Given the description of an element on the screen output the (x, y) to click on. 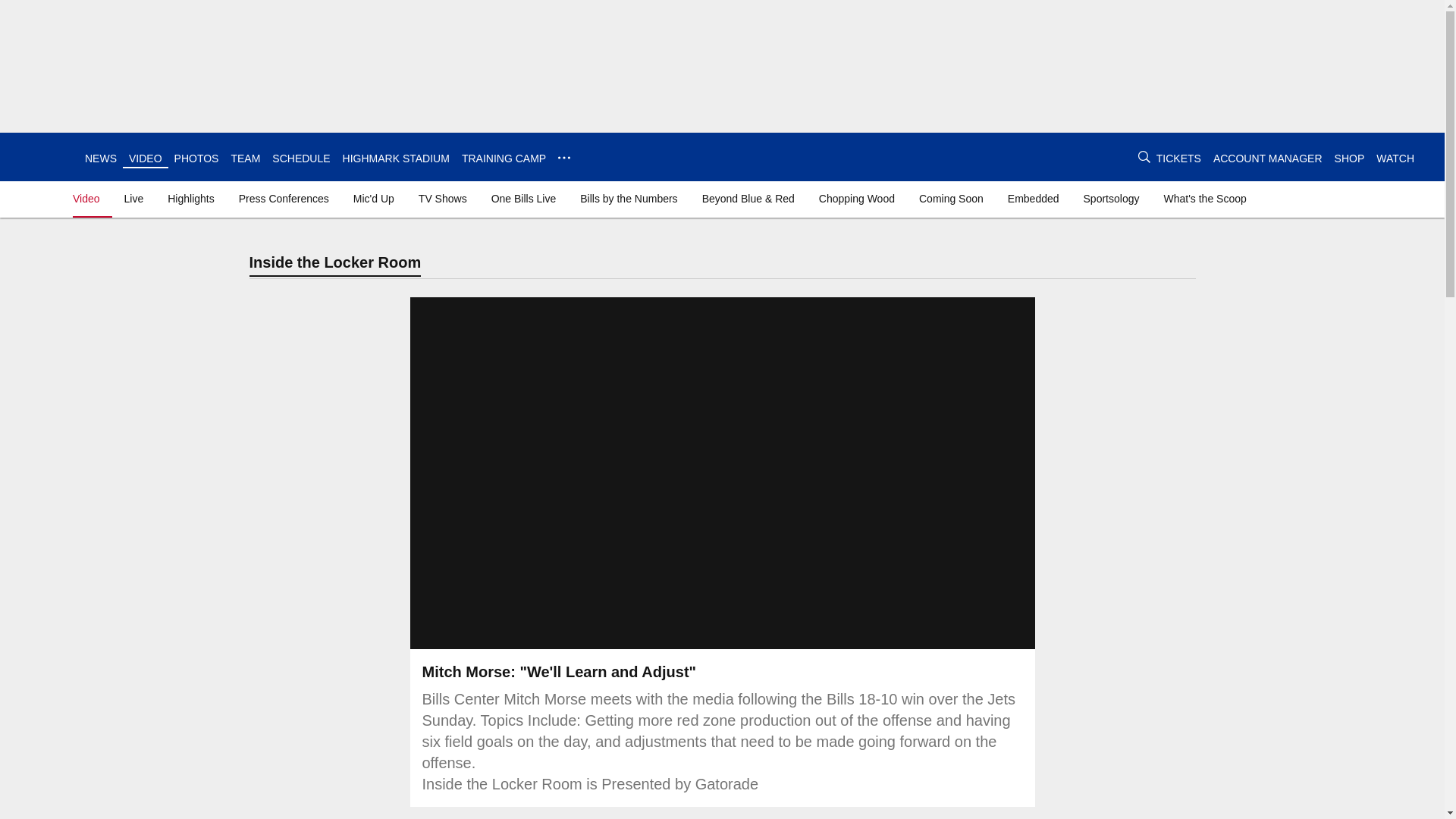
HIGHMARK STADIUM (395, 158)
TEAM (245, 158)
Press Conferences (283, 198)
PHOTOS (196, 158)
VIDEO (145, 158)
3rd party ad content (1394, 108)
NEWS (100, 158)
VIDEO (145, 158)
TICKETS (1178, 158)
TRAINING CAMP (503, 158)
